Given the description of an element on the screen output the (x, y) to click on. 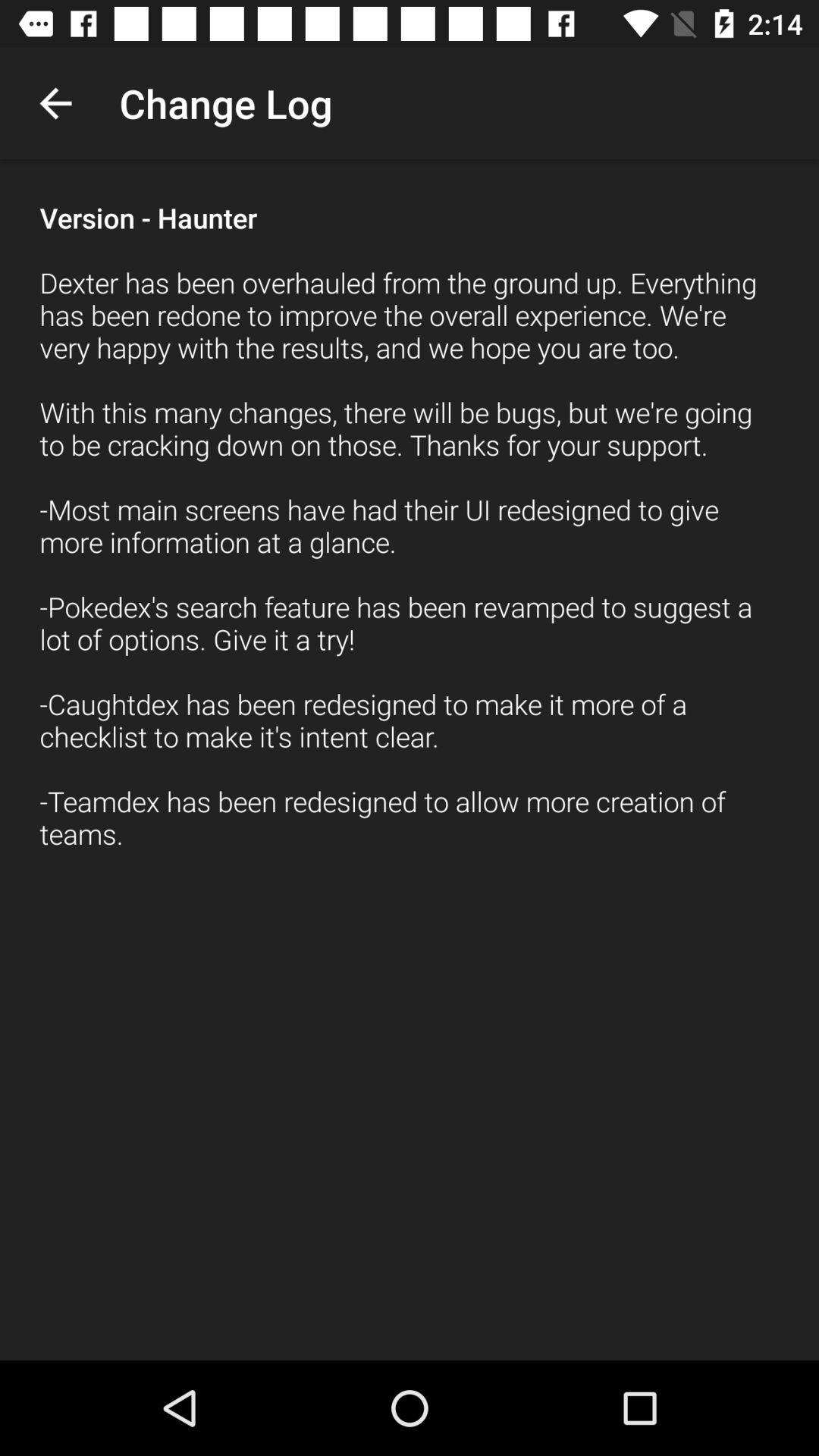
launch the item above version haunter dexter item (55, 103)
